Given the description of an element on the screen output the (x, y) to click on. 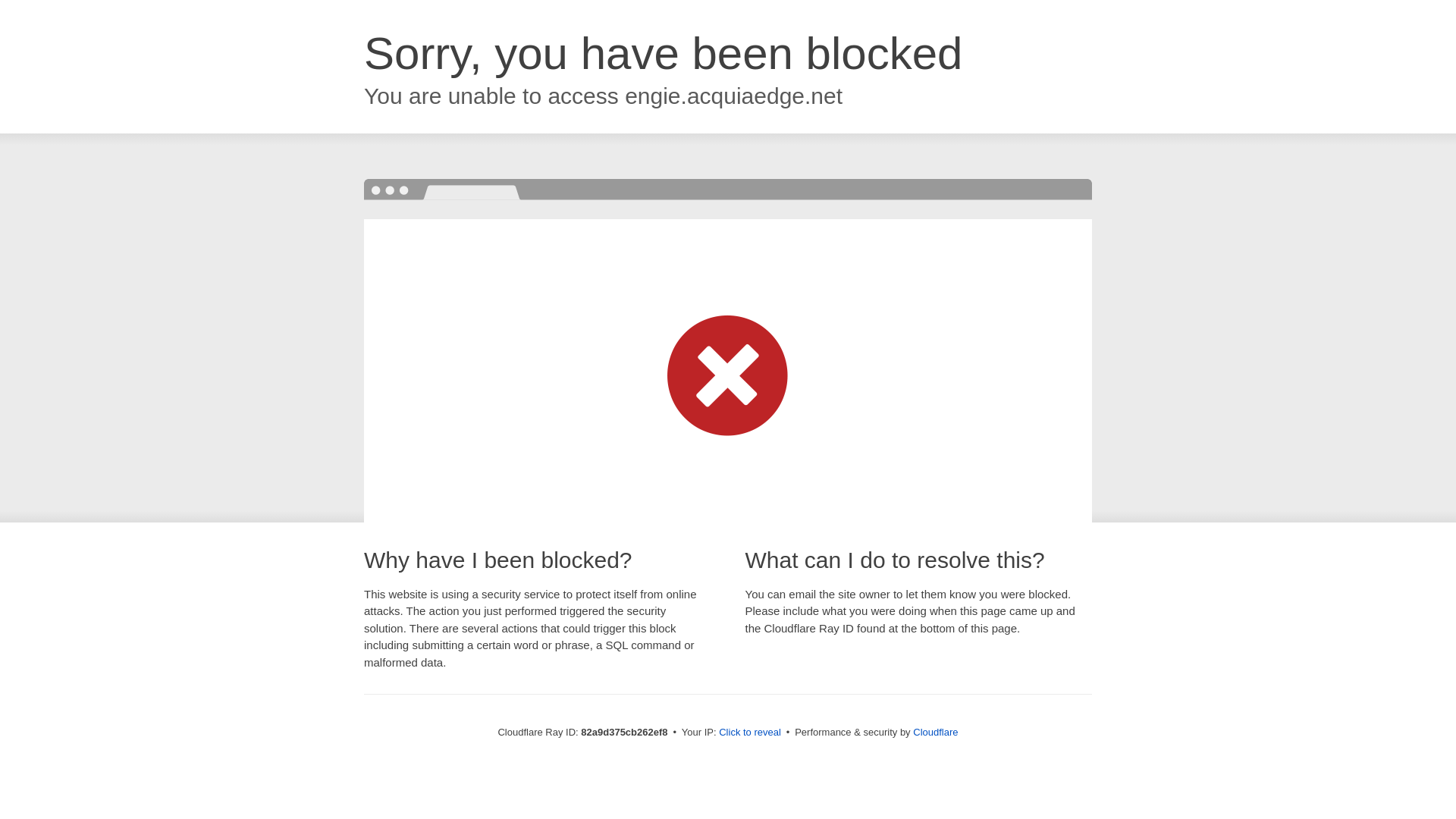
Click to reveal Element type: text (749, 732)
Cloudflare Element type: text (935, 731)
